Given the description of an element on the screen output the (x, y) to click on. 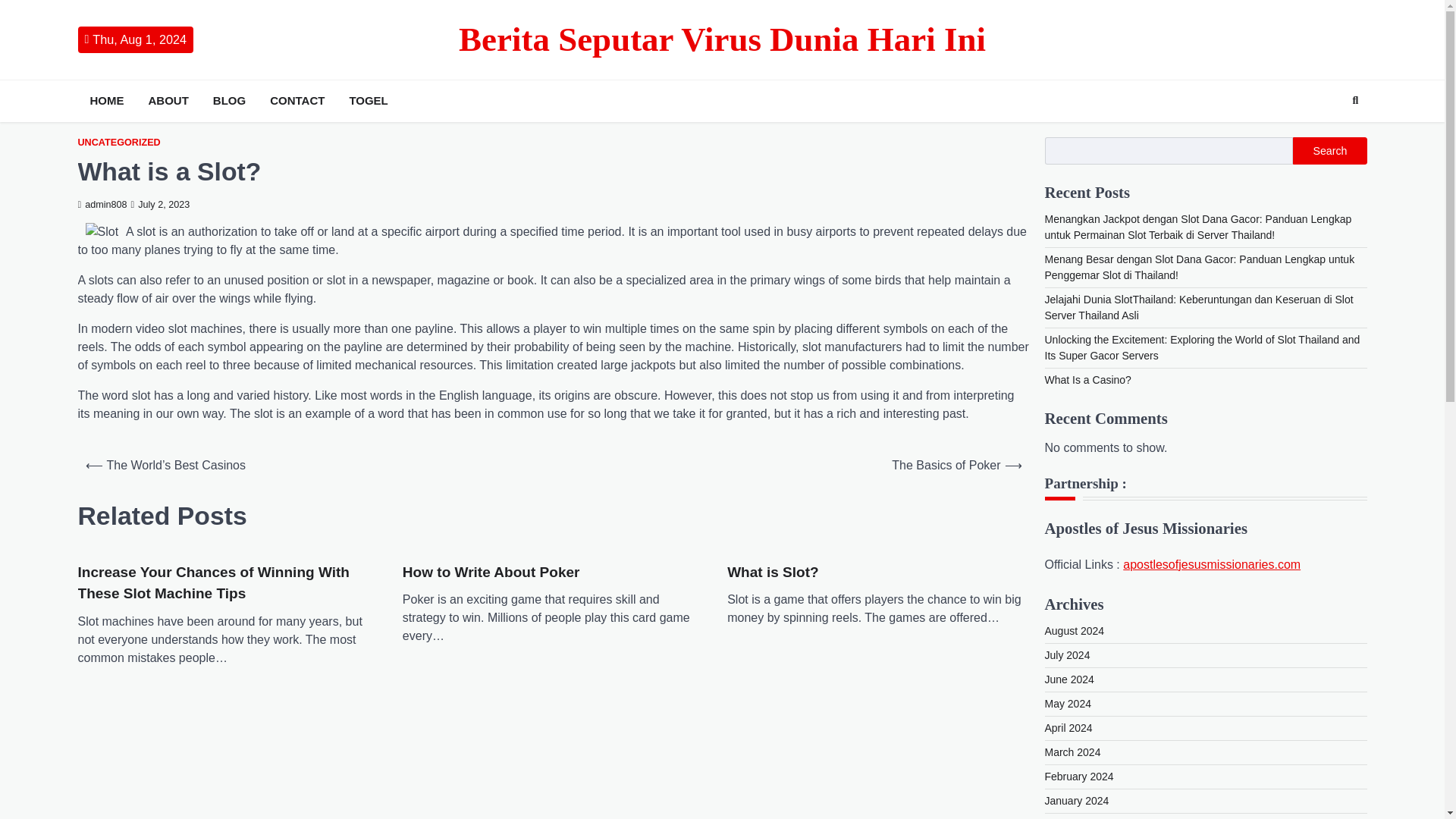
April 2024 (1069, 727)
Search (1355, 100)
What is Slot? (772, 572)
June 2024 (1069, 679)
March 2024 (1072, 752)
July 2, 2023 (160, 204)
How to Write About Poker (491, 572)
July 2024 (1067, 654)
TOGEL (367, 100)
Berita Seputar Virus Dunia Hari Ini (721, 39)
Search (1329, 150)
February 2024 (1079, 776)
CONTACT (296, 100)
